Given the description of an element on the screen output the (x, y) to click on. 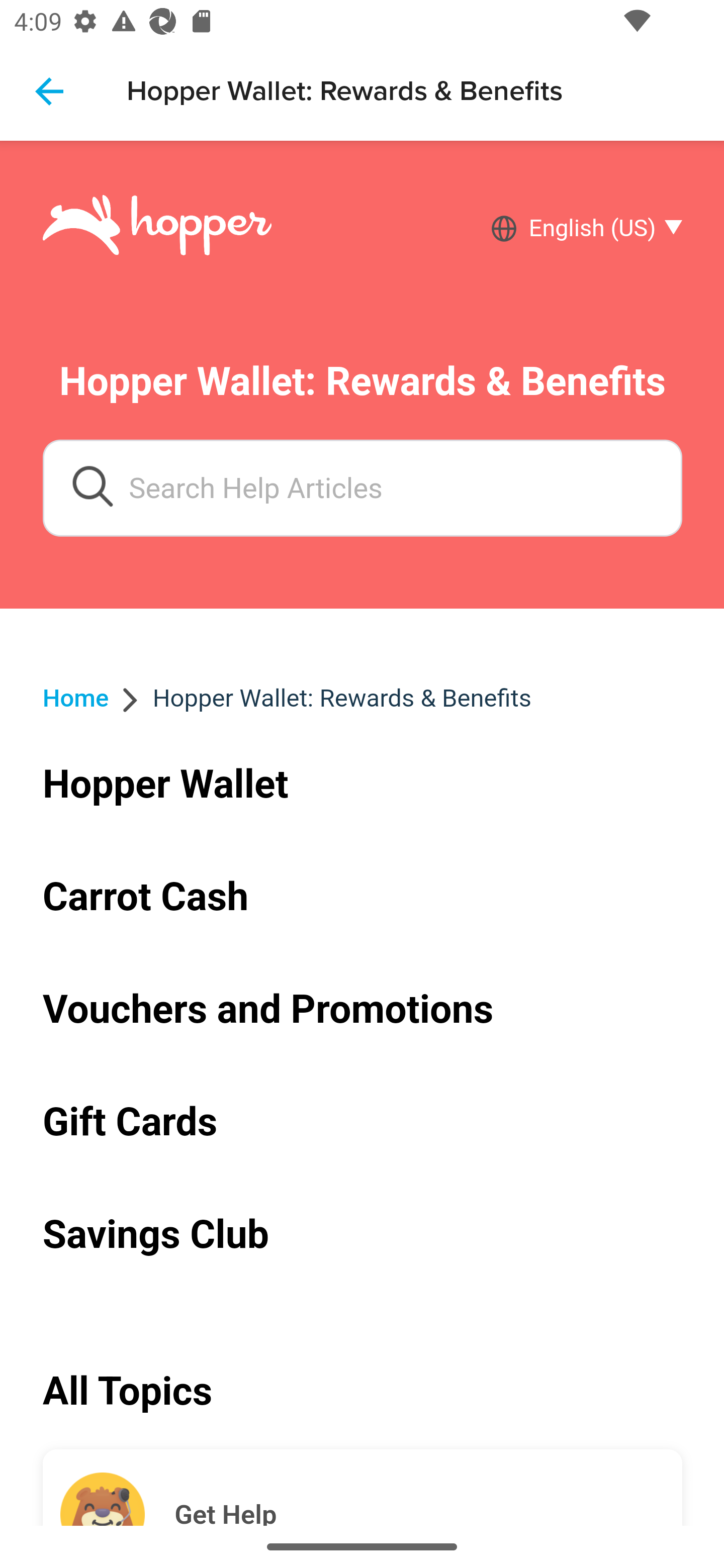
Navigate up (49, 91)
Brand logo (156, 227)
English (US) (599, 228)
Home (75, 697)
Get Help (428, 1487)
